Given the description of an element on the screen output the (x, y) to click on. 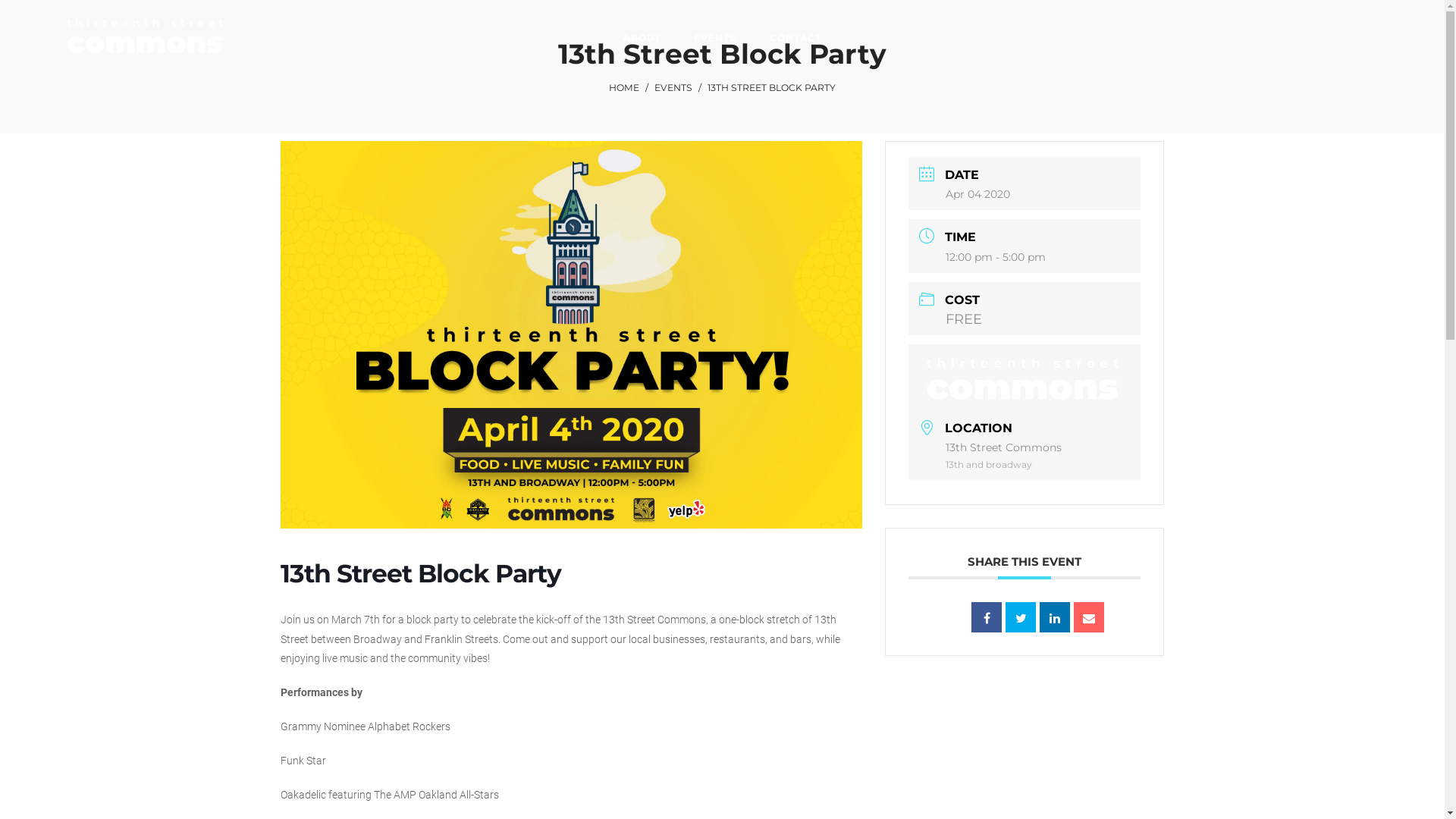
ABOUT Element type: text (641, 37)
HOME Element type: text (623, 87)
CONTACT Element type: text (795, 37)
Tweet Element type: hover (1020, 617)
EVENTS Element type: text (673, 87)
Share on Facebook Element type: hover (986, 617)
Linkedin Element type: hover (1054, 617)
EVENTS Element type: text (714, 37)
Email Element type: hover (1088, 617)
